Given the description of an element on the screen output the (x, y) to click on. 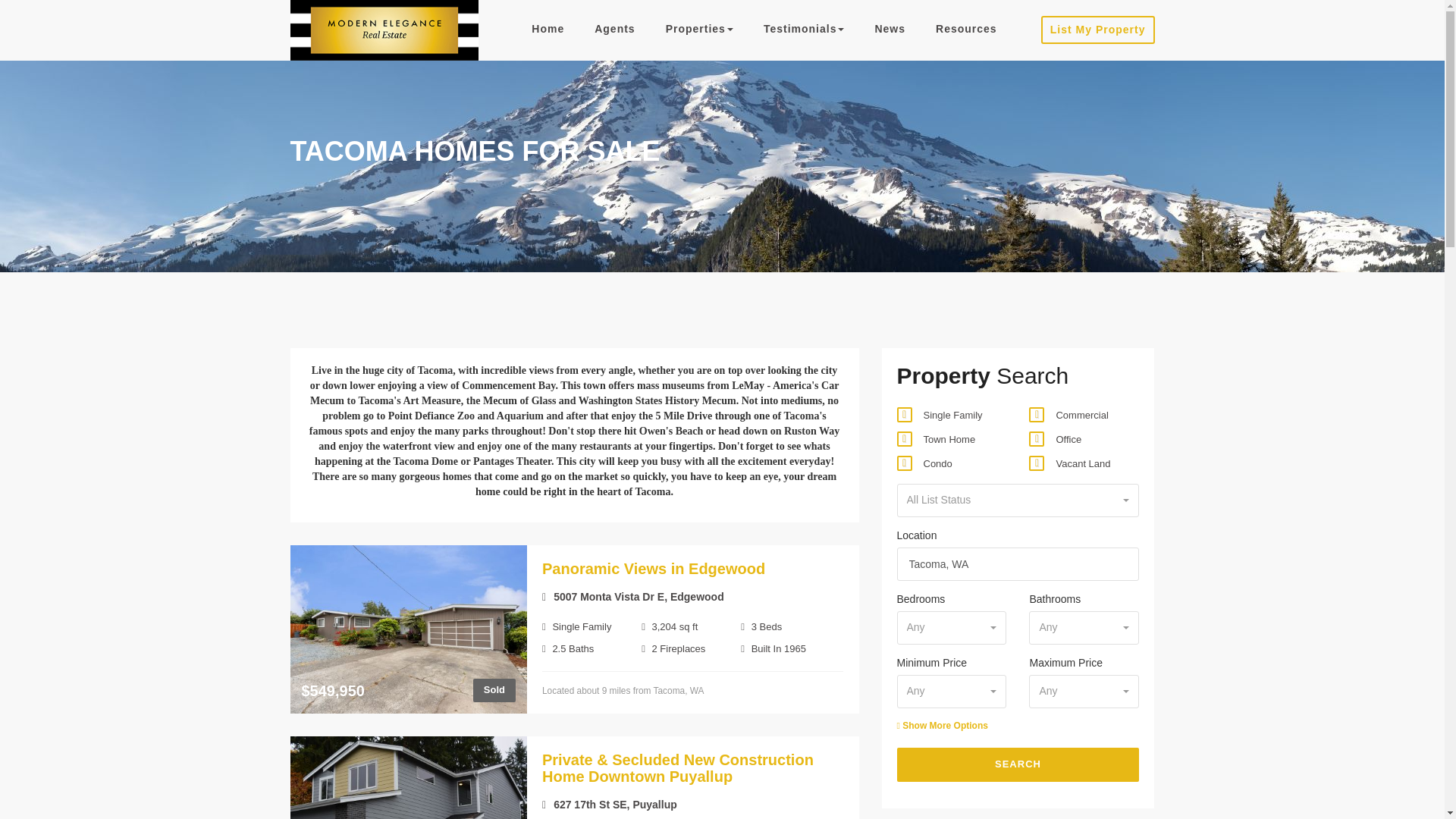
News (889, 29)
Properties (699, 29)
Tacoma, WA (1017, 563)
All List Status (1018, 500)
Office (1034, 439)
Any (952, 627)
Panoramic Views in Edgewood (653, 568)
Condo (900, 463)
Any (1083, 691)
Any (1083, 627)
Home (547, 29)
Vacant Land (1034, 463)
5007 Monta Vista Dr E, Edgewood (632, 596)
Any (952, 691)
Agents (614, 29)
